Given the description of an element on the screen output the (x, y) to click on. 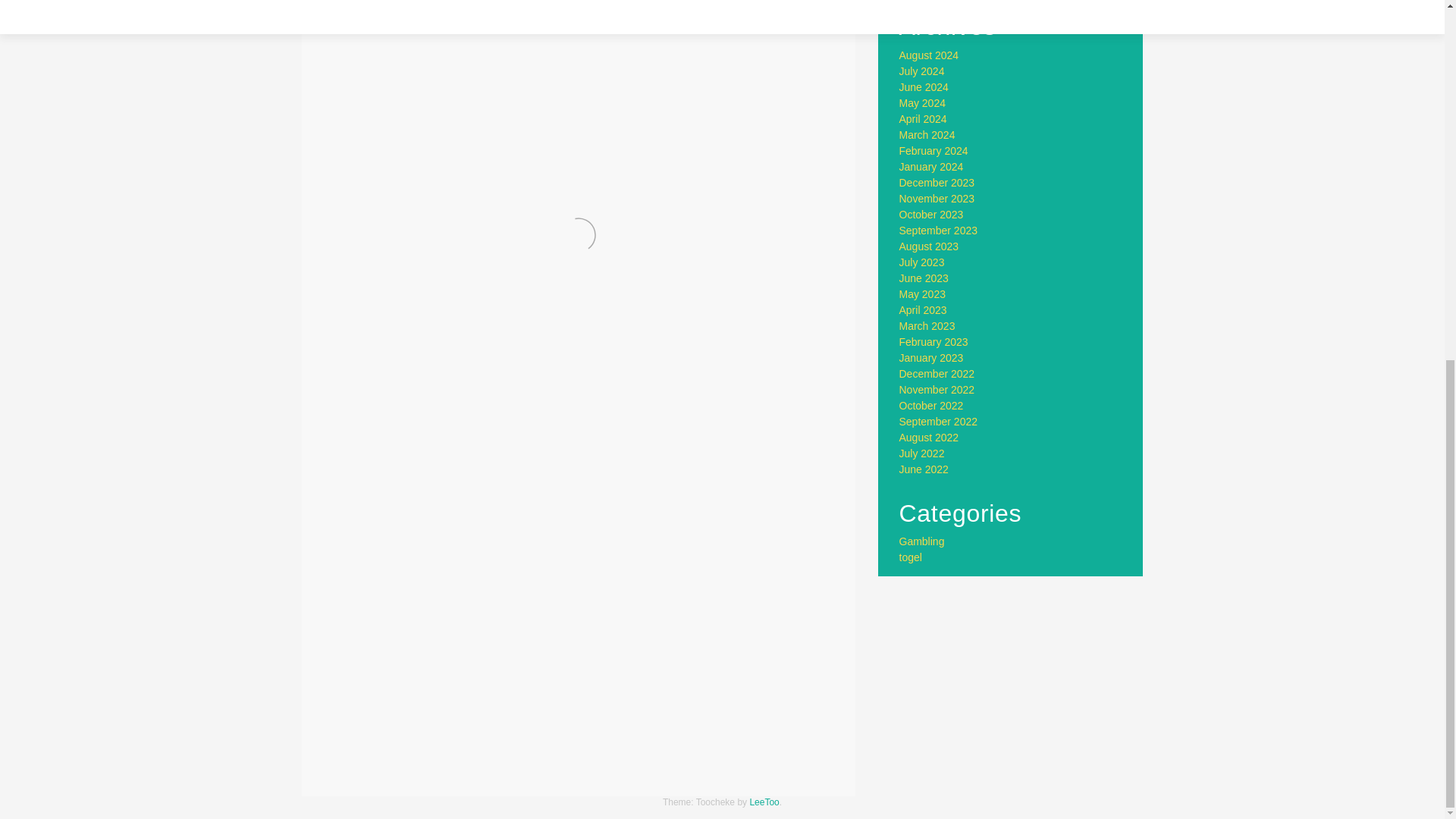
May 2023 (921, 294)
March 2023 (927, 326)
April 2024 (923, 119)
August 2024 (929, 55)
September 2022 (938, 421)
November 2023 (937, 198)
September 2023 (938, 230)
October 2023 (931, 214)
June 2024 (924, 87)
